Given the description of an element on the screen output the (x, y) to click on. 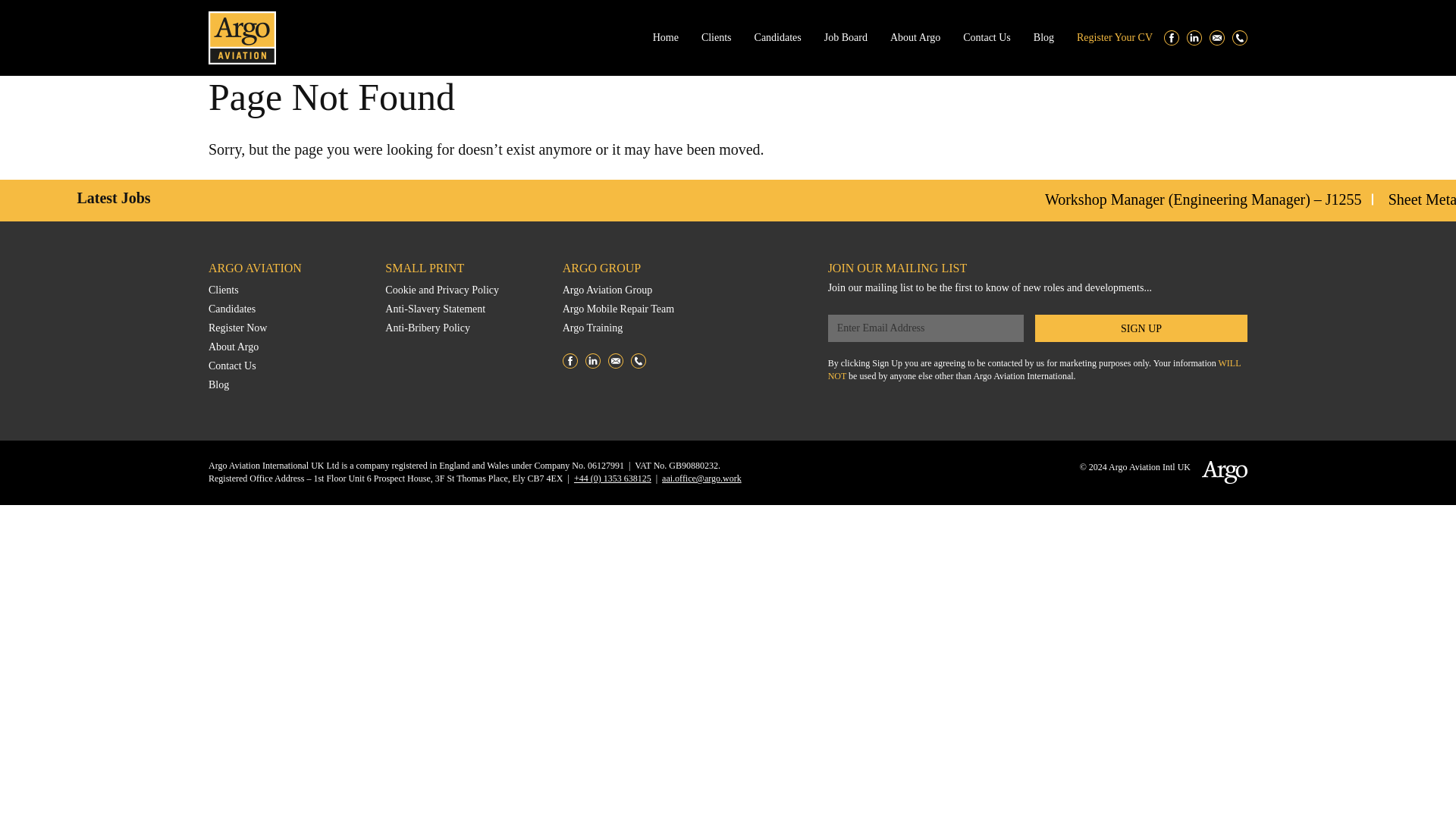
Contact Us (986, 37)
Clients (223, 289)
Blog (218, 384)
Register Your CV (1115, 37)
Candidates (778, 37)
Clients (716, 37)
About Argo (914, 37)
linkedin (1194, 37)
Register Now (237, 327)
Contact Us (232, 365)
